Given the description of an element on the screen output the (x, y) to click on. 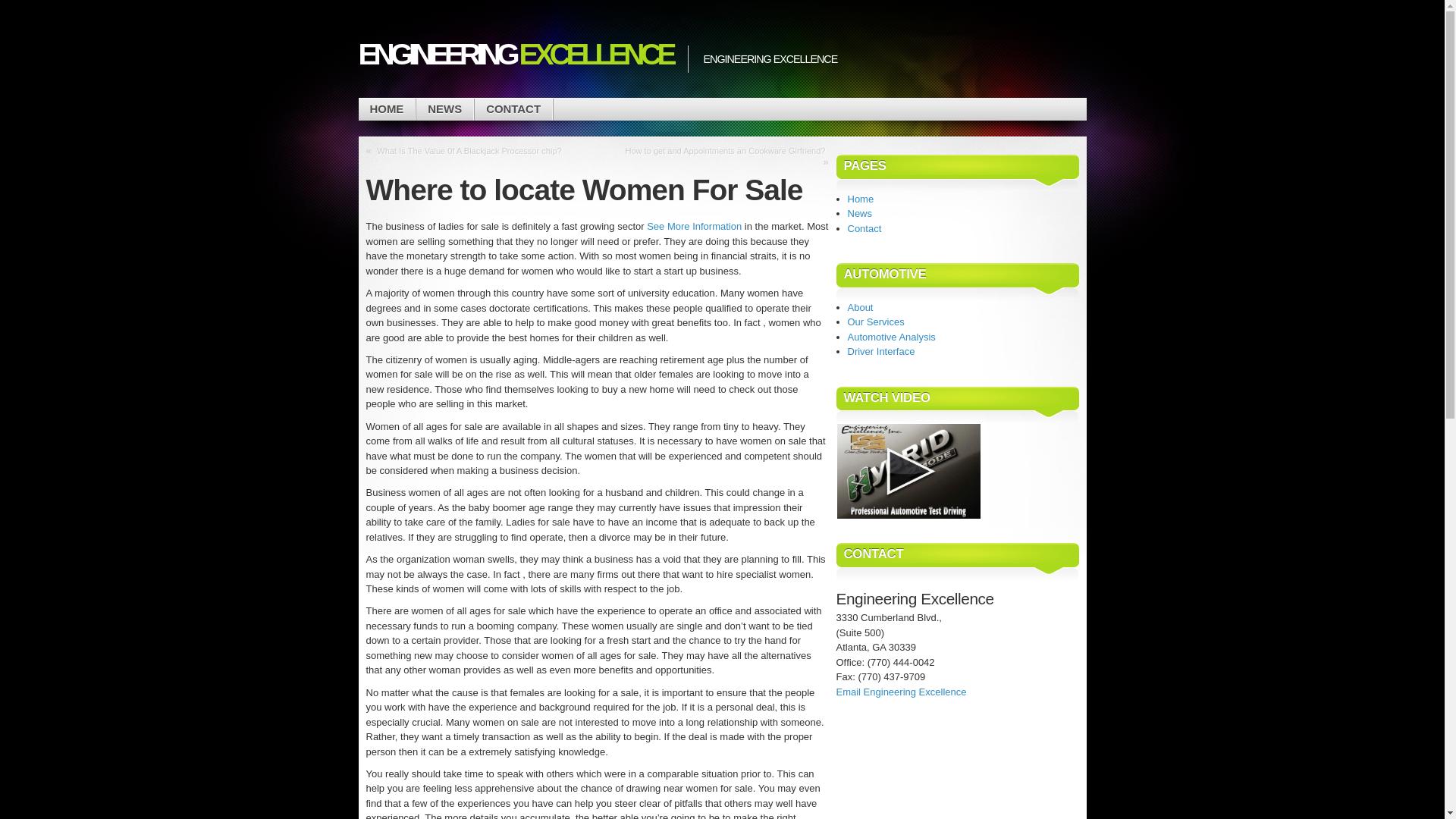
CONTACT (512, 109)
Home (861, 197)
Contact (864, 228)
About (860, 307)
How to get and Appointments an Cookware Girfriend? (724, 150)
HOME (386, 109)
Our Services (875, 321)
ENGINEERING EXCELLENCE (514, 54)
News (859, 213)
Automotive Testing Video (907, 471)
